Given the description of an element on the screen output the (x, y) to click on. 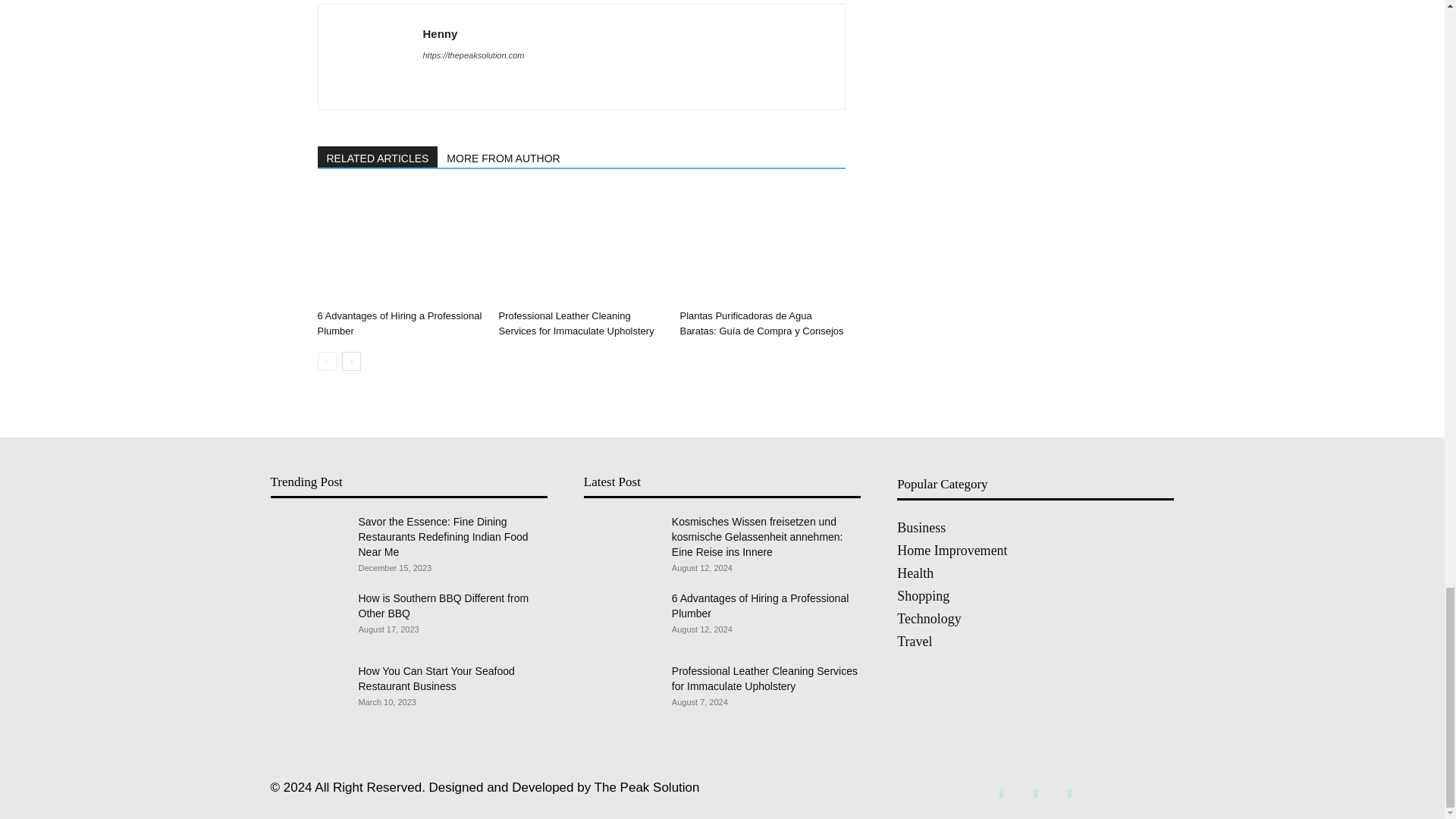
6 Advantages of Hiring a Professional Plumber (399, 323)
6 Advantages of Hiring a Professional Plumber (399, 246)
